Given the description of an element on the screen output the (x, y) to click on. 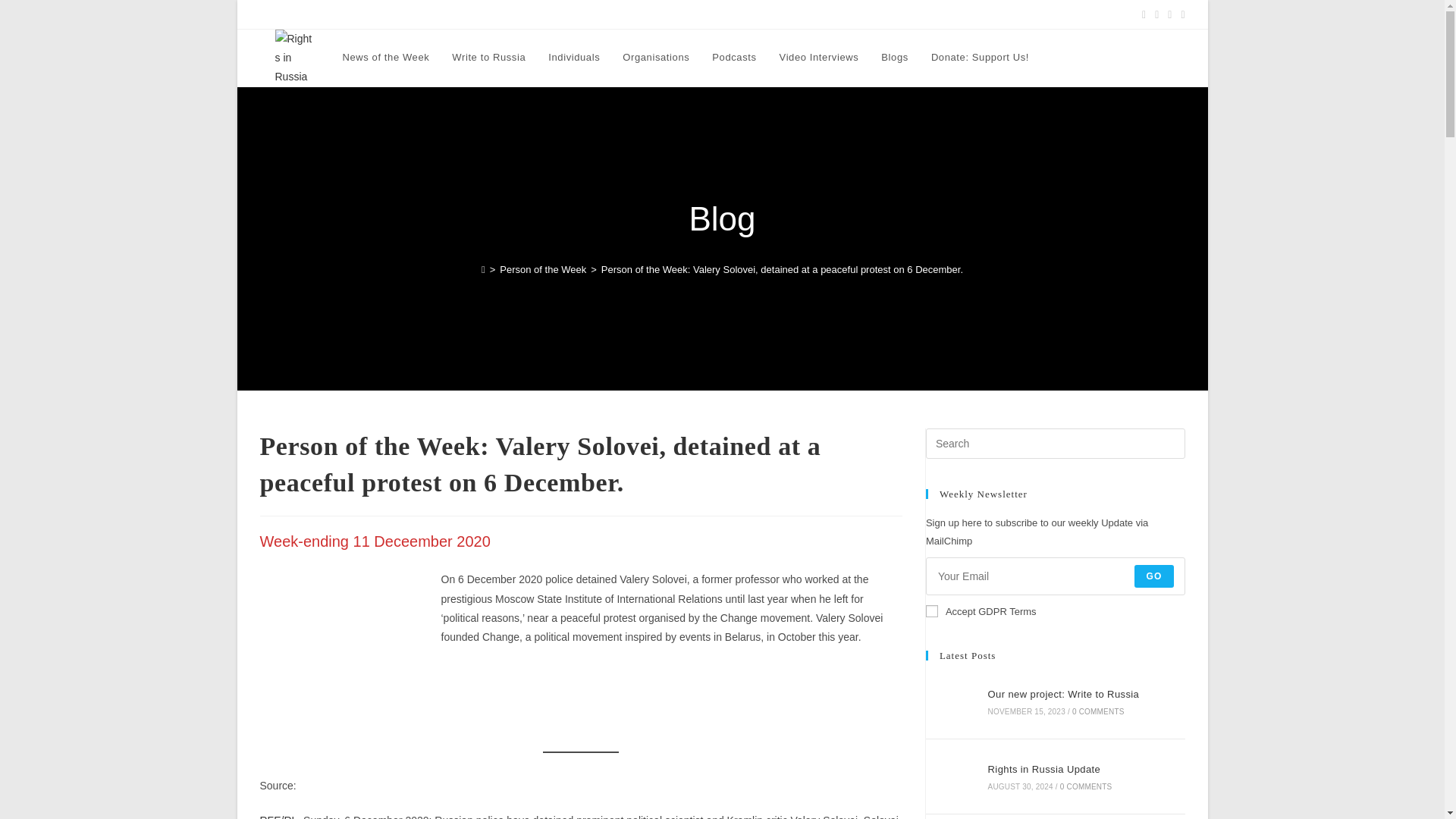
Events (504, 13)
In Memoriam (806, 13)
Remember the Date (637, 13)
Rights in Russia Update (951, 776)
Rights in Russia Update (307, 13)
Person of the Week (542, 269)
Contact (752, 13)
Write to Russia (489, 57)
Our new project: Write to Russia (951, 701)
1 (931, 611)
